Given the description of an element on the screen output the (x, y) to click on. 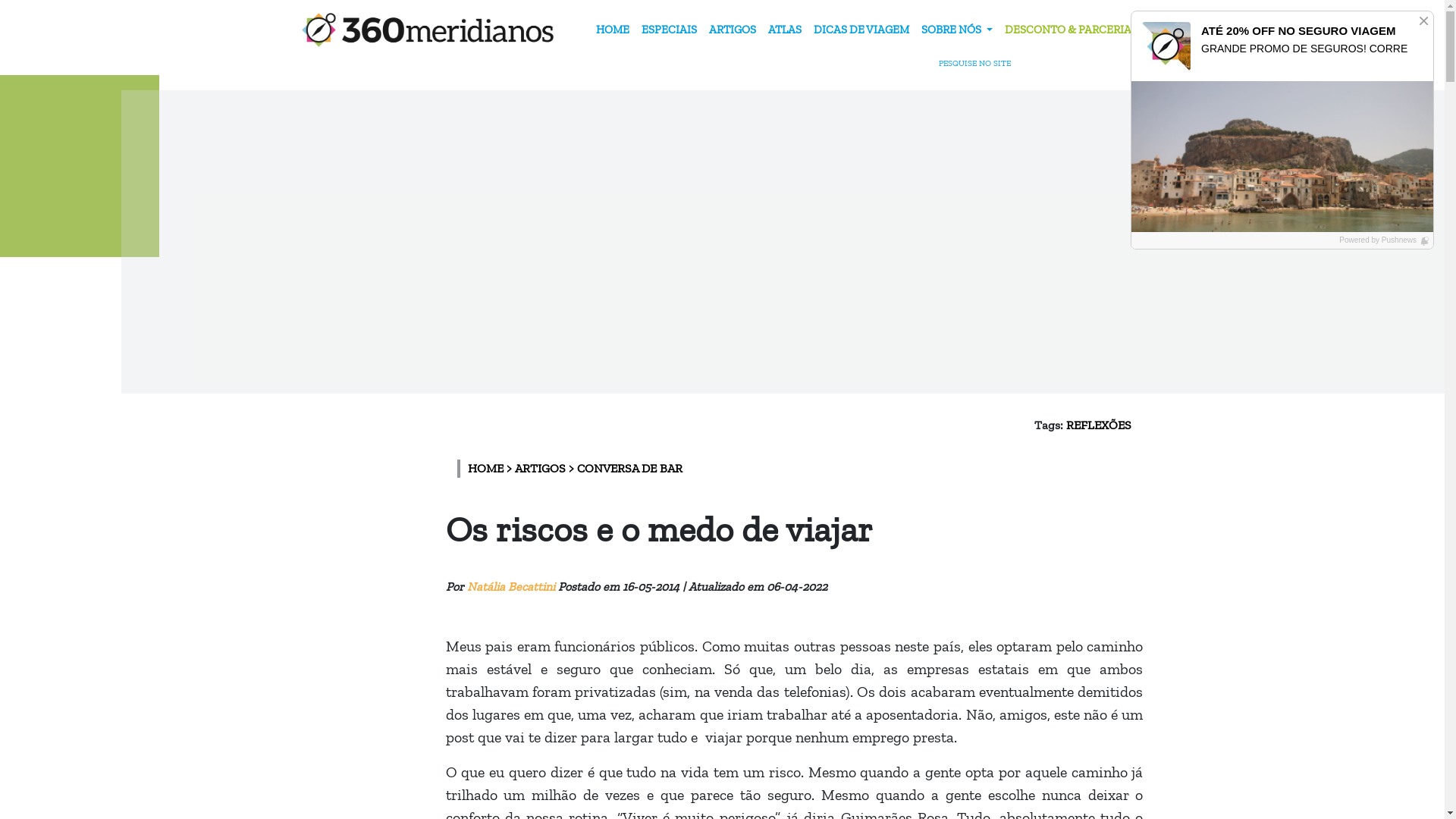
DESCONTO & PARCERIAS Element type: text (1069, 29)
ATLAS Element type: text (784, 29)
HOME Element type: text (612, 29)
ESPECIAIS Element type: text (668, 29)
ARTIGOS > Element type: text (545, 468)
DICAS DE VIAGEM Element type: text (861, 29)
360meridianos Element type: hover (427, 29)
ARTIGOS Element type: text (732, 29)
CONVERSA DE BAR Element type: text (628, 468)
HOME > Element type: text (490, 468)
PESQUISE NO SITE Element type: text (984, 63)
GO! Element type: text (1013, 31)
